Given the description of an element on the screen output the (x, y) to click on. 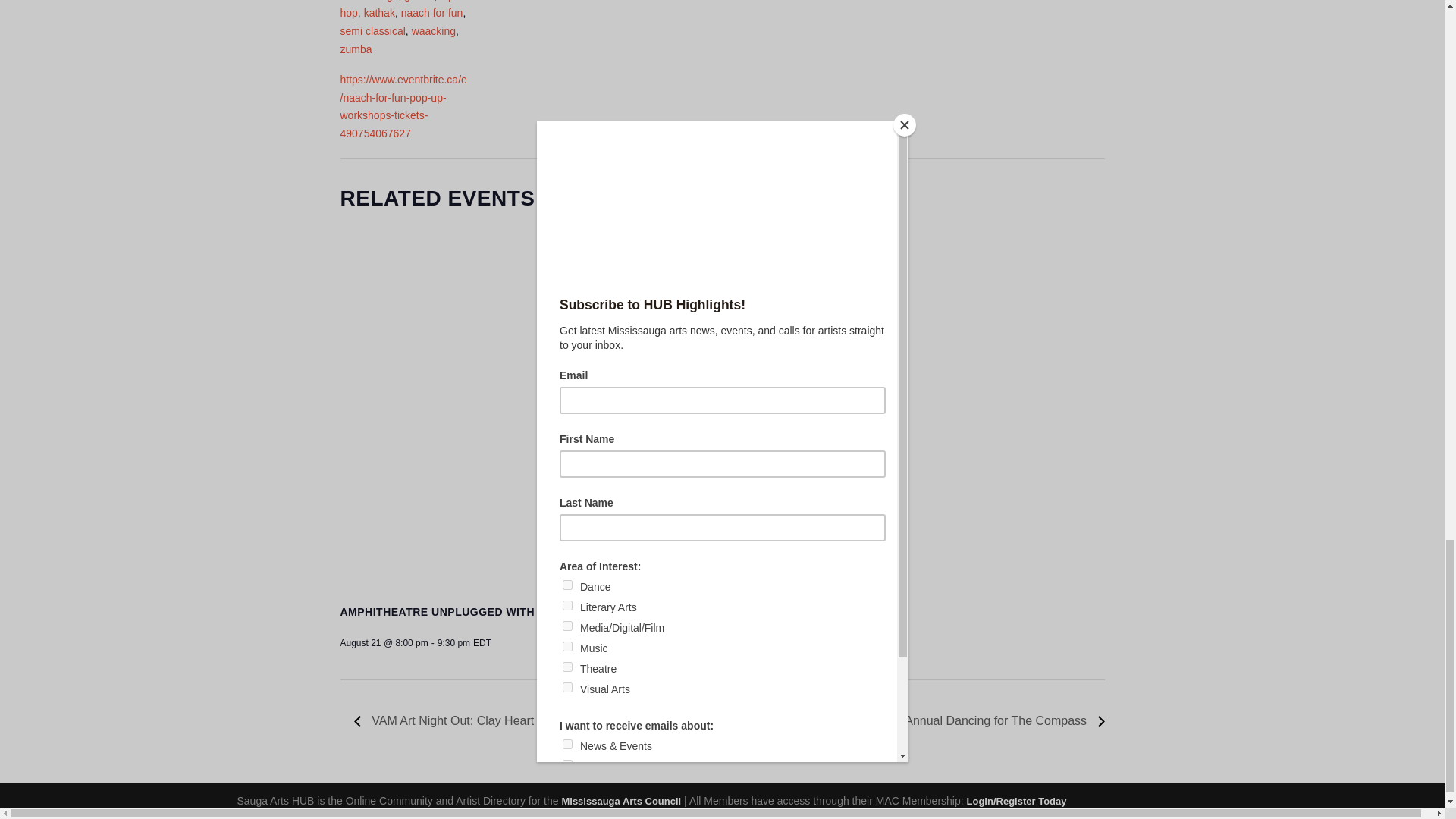
Mississauga Arts Council (620, 800)
